Given the description of an element on the screen output the (x, y) to click on. 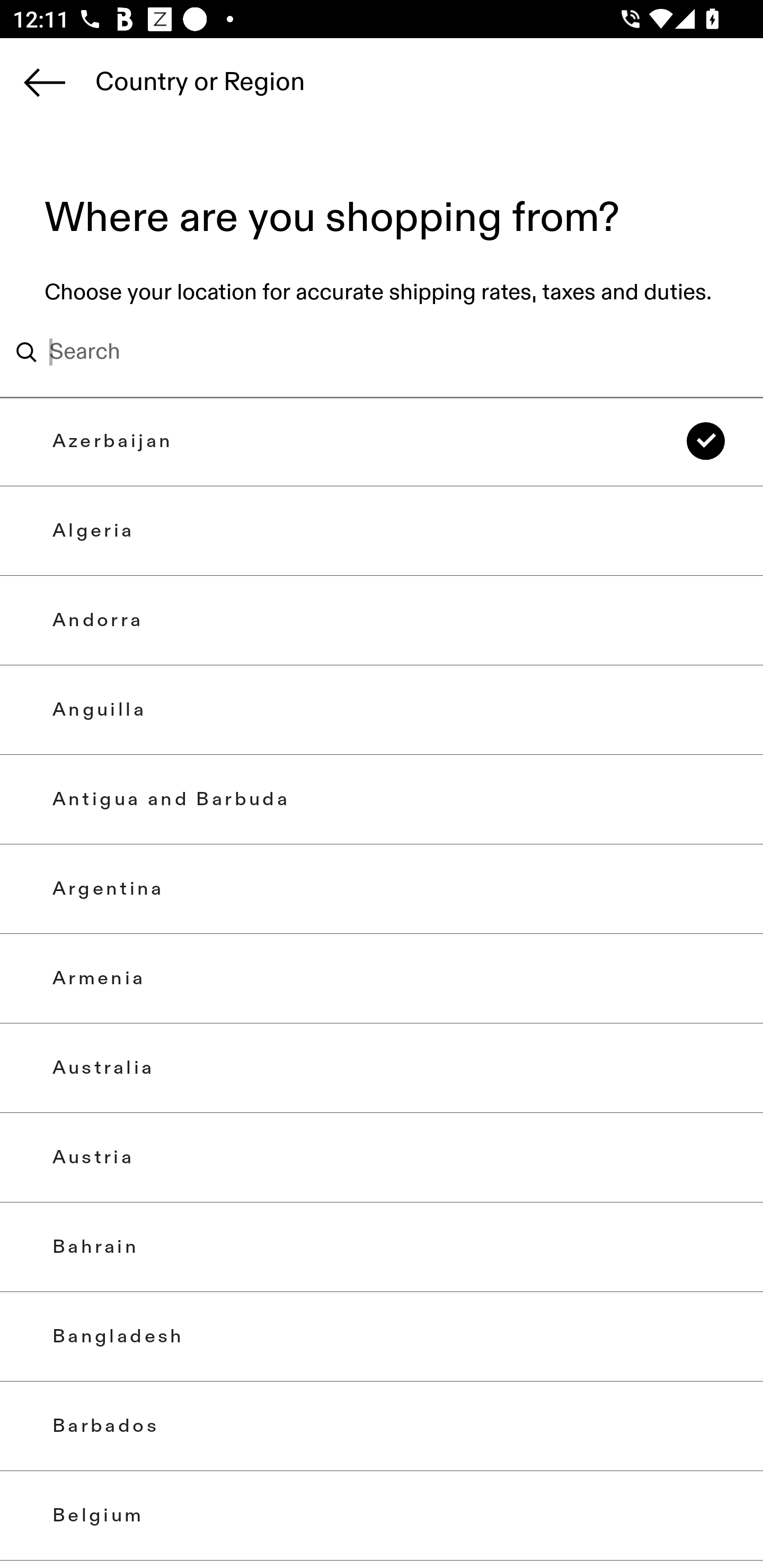
Navigate up (44, 82)
Search (355, 352)
Azerbaijan (381, 441)
Algeria (381, 530)
Andorra (381, 619)
Anguilla (381, 709)
Antigua and Barbuda (381, 798)
Argentina (381, 888)
Armenia (381, 978)
Australia (381, 1067)
Austria (381, 1157)
Bahrain (381, 1247)
Bangladesh (381, 1336)
Barbados (381, 1425)
Belgium (381, 1515)
